Given the description of an element on the screen output the (x, y) to click on. 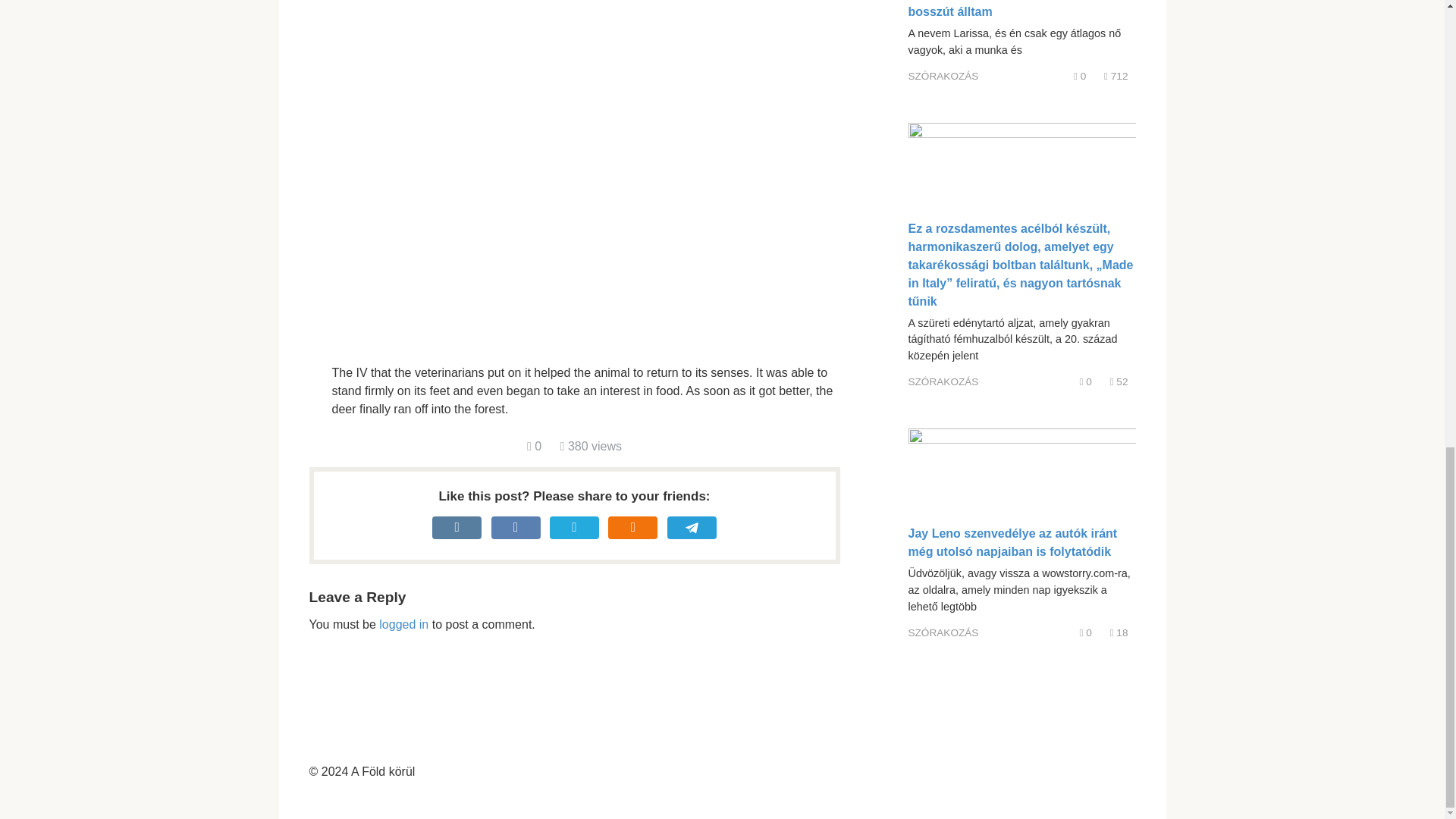
Comments (1086, 632)
Views (1118, 381)
logged in (403, 624)
Comments (534, 445)
Comments (1080, 75)
Views (1118, 632)
Comments (1086, 381)
Views (1114, 75)
Views (590, 445)
